Given the description of an element on the screen output the (x, y) to click on. 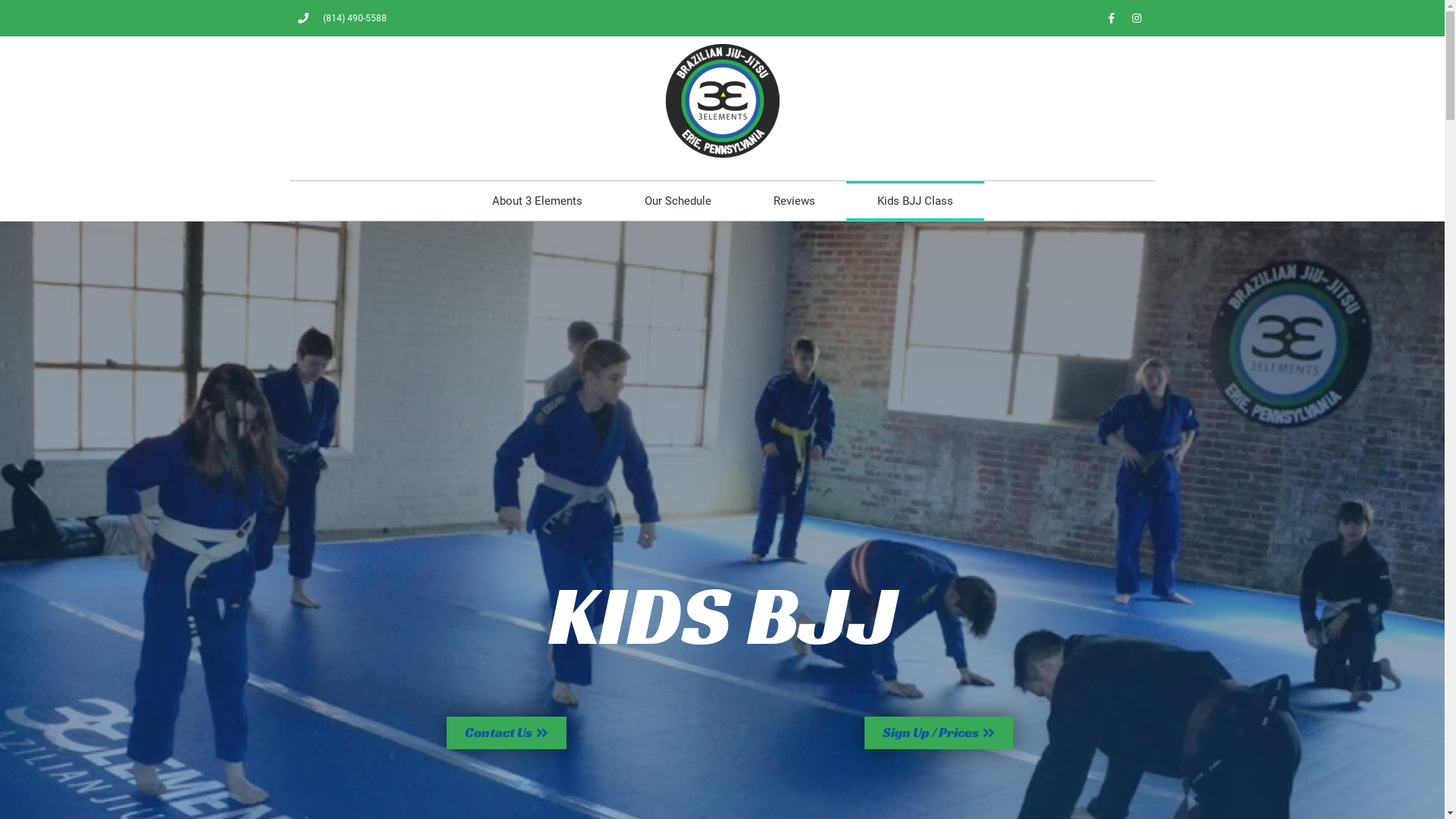
Sign Up / Prices Element type: text (938, 731)
(814) 490-5588 Element type: text (341, 18)
Our Schedule Element type: text (676, 200)
Kids BJJ Class Element type: text (915, 200)
Reviews Element type: text (793, 200)
Contact Us Element type: text (505, 731)
About 3 Elements Element type: text (537, 200)
